Given the description of an element on the screen output the (x, y) to click on. 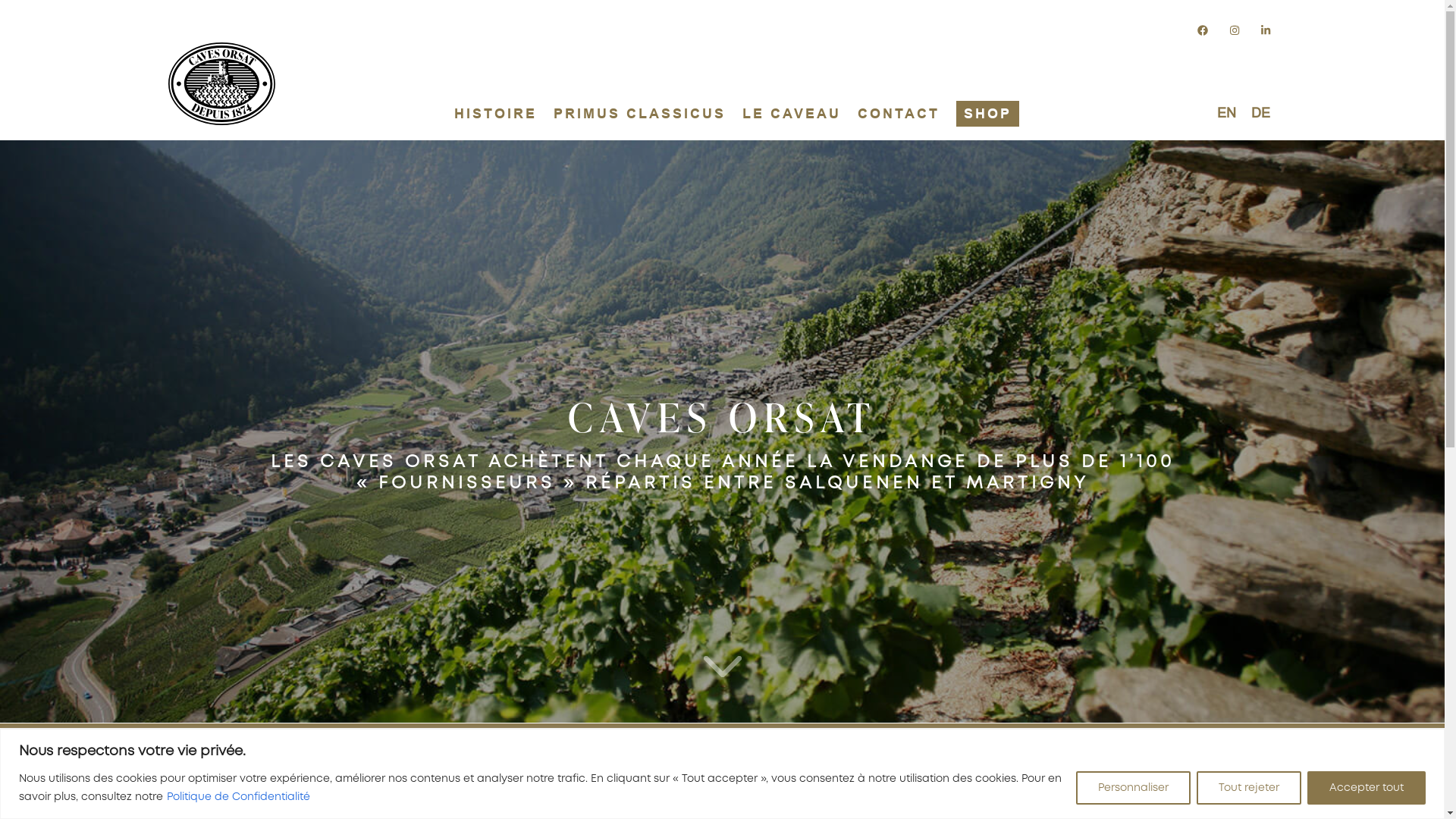
CONTACT Element type: text (898, 117)
Accepter tout Element type: text (1366, 786)
arrowDown Element type: hover (722, 664)
PRIMUS CLASSICUS Element type: text (639, 117)
HISTOIRE Element type: text (495, 117)
SHOP Element type: text (987, 113)
logo Caves Orsat Element type: hover (221, 83)
Tout rejeter Element type: text (1248, 786)
DE Element type: text (1260, 112)
Personnaliser Element type: text (1133, 786)
EN Element type: text (1226, 112)
LE CAVEAU Element type: text (791, 117)
